Given the description of an element on the screen output the (x, y) to click on. 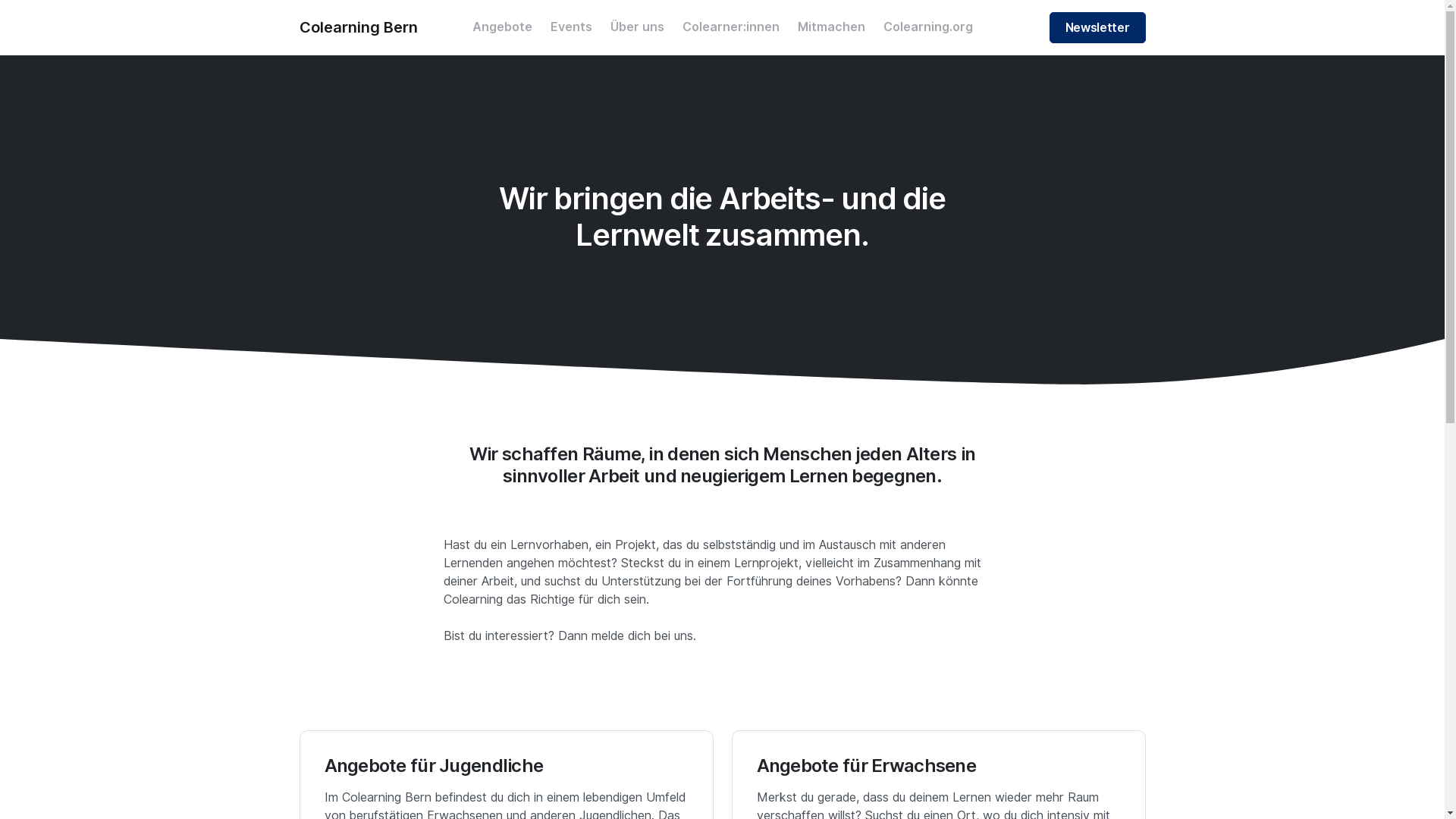
Newsletter Element type: text (1097, 27)
Events Element type: text (571, 27)
Colearner:innen Element type: text (730, 27)
Mitmachen Element type: text (831, 27)
Colearning Bern Element type: text (357, 27)
Colearning.org Element type: text (927, 27)
Angebote Element type: text (501, 27)
